Given the description of an element on the screen output the (x, y) to click on. 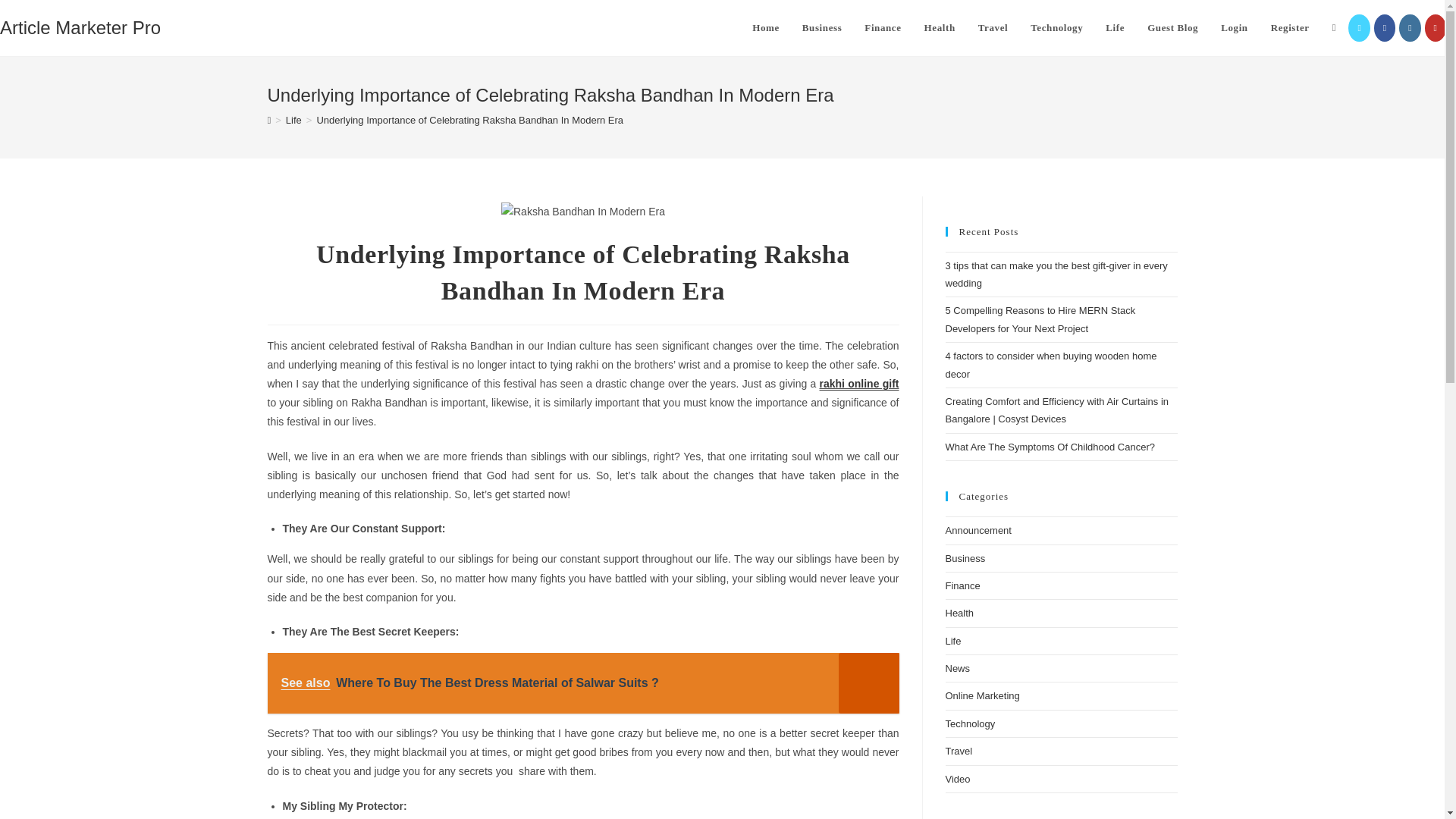
Home (765, 28)
Login (1234, 28)
Health (939, 28)
Business (821, 28)
Finance (882, 28)
Technology (1056, 28)
Travel (992, 28)
Life (293, 120)
